Given the description of an element on the screen output the (x, y) to click on. 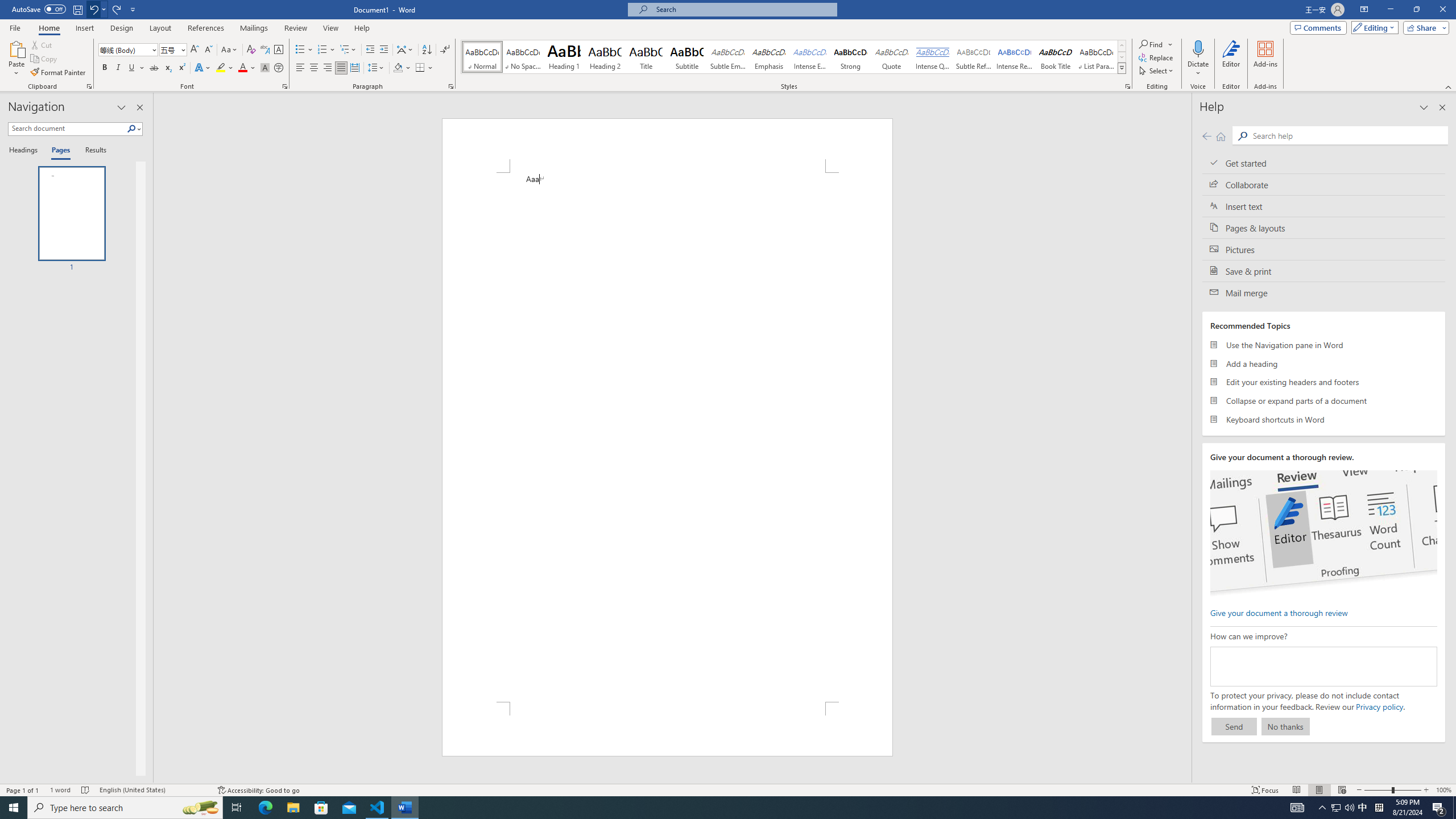
Insert text (1323, 206)
Justify (340, 67)
Edit your existing headers and footers (1323, 381)
Results (91, 150)
Multilevel List (347, 49)
Strong (849, 56)
Editor (1231, 58)
Intense Emphasis (809, 56)
Microsoft search (742, 9)
Select (1157, 69)
Font Color (246, 67)
